Given the description of an element on the screen output the (x, y) to click on. 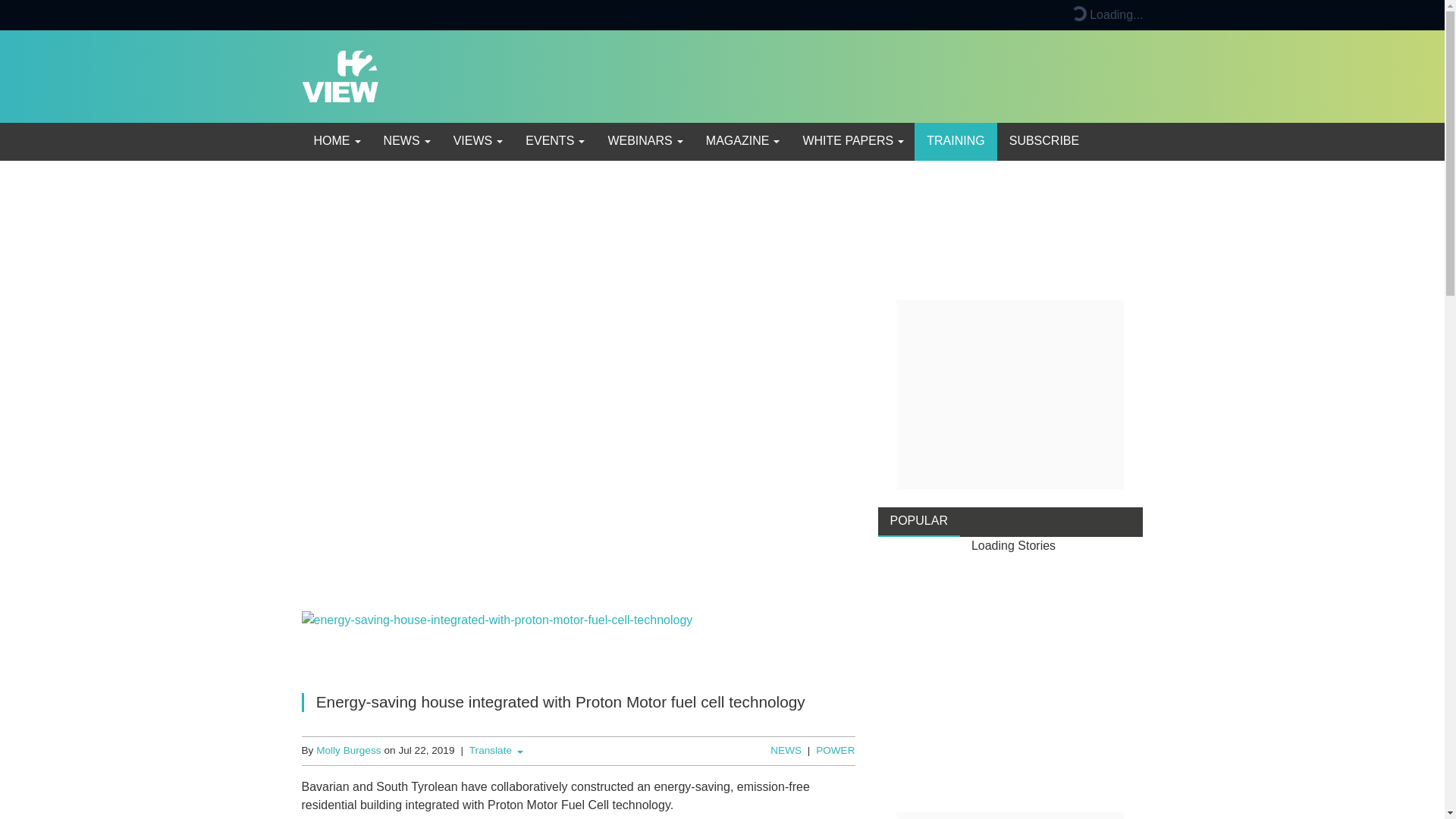
VIEWS (477, 140)
Home (336, 140)
NEWS (406, 140)
HOME (336, 140)
News (406, 140)
H2 View (339, 74)
